Given the description of an element on the screen output the (x, y) to click on. 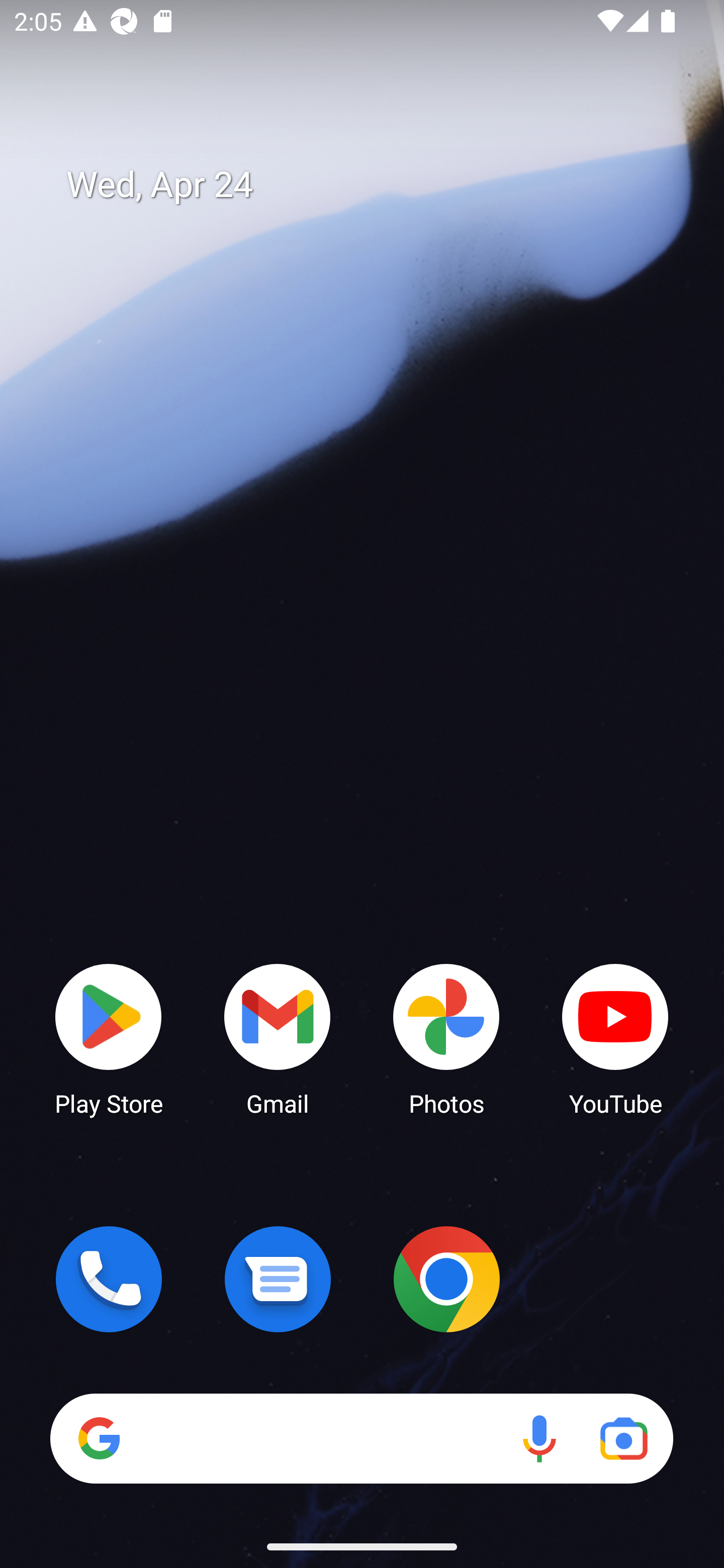
Wed, Apr 24 (375, 184)
Play Store (108, 1038)
Gmail (277, 1038)
Photos (445, 1038)
YouTube (615, 1038)
Phone (108, 1279)
Messages (277, 1279)
Chrome (446, 1279)
Search Voice search Google Lens (361, 1438)
Voice search (539, 1438)
Google Lens (623, 1438)
